Given the description of an element on the screen output the (x, y) to click on. 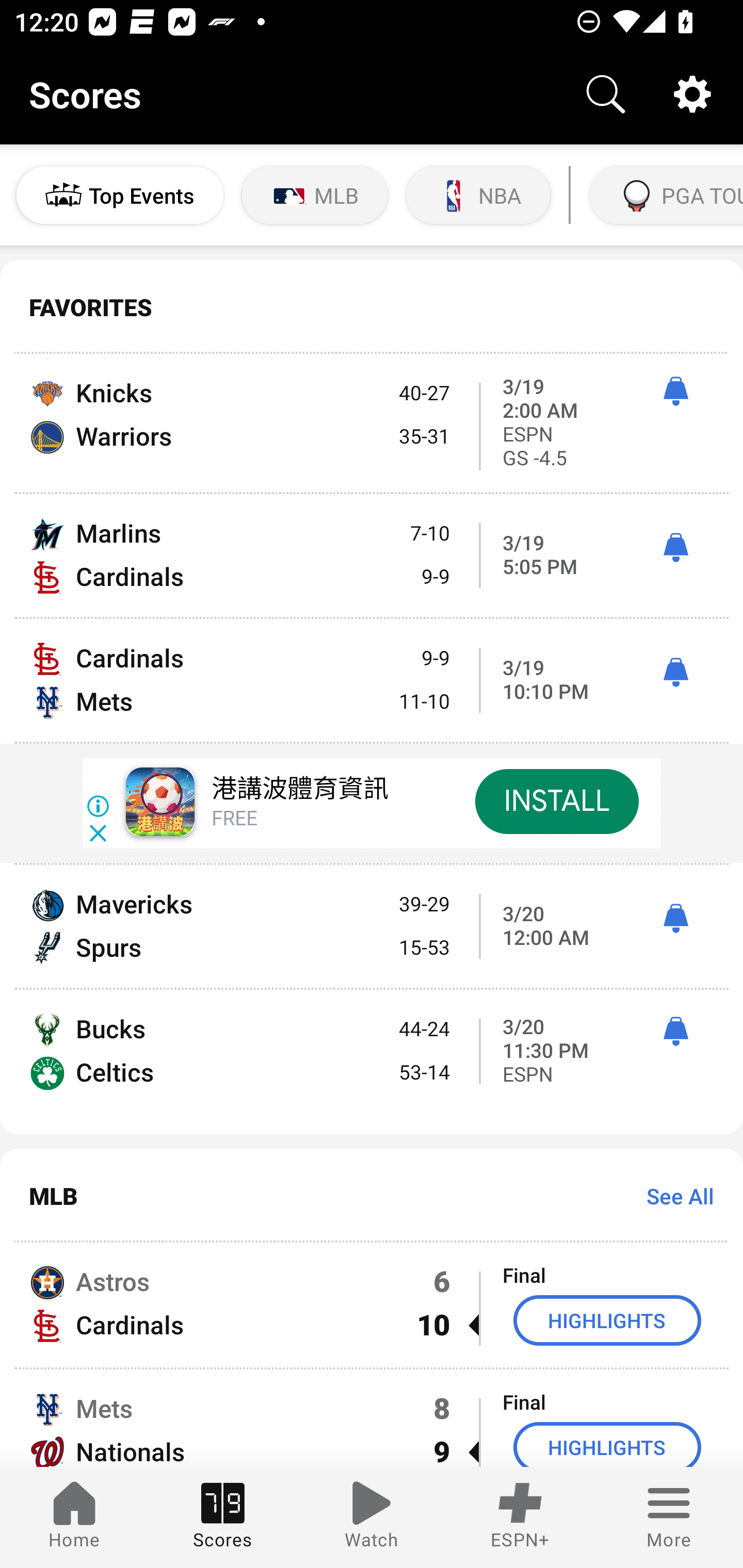
Search (605, 93)
Settings (692, 93)
 Top Events (119, 194)
MLB (314, 194)
NBA (477, 194)
PGA TOUR (664, 194)
FAVORITES (371, 307)
ì (675, 390)
Marlins 7-10 Cardinals 9-9 3/19 5:05 PM ì (371, 554)
ì (675, 547)
Cardinals 9-9 Mets 11-10 3/19 10:10 PM ì (371, 680)
ì (675, 672)
INSTALL (556, 801)
港講波體育資訊 (299, 789)
FREE (234, 818)
Mavericks 39-29 Spurs 15-53 3/20 12:00 AM ì (371, 926)
ì (675, 918)
Bucks 44-24 Celtics 53-14 3/20 11:30 PM ì ESPN (371, 1061)
ì (675, 1031)
MLB See All (371, 1195)
See All (673, 1195)
Astros 6 Final Cardinals 10  HIGHLIGHTS (371, 1304)
HIGHLIGHTS (607, 1320)
Mets 8 Final Nationals 9  HIGHLIGHTS (371, 1417)
HIGHLIGHTS (607, 1444)
Home (74, 1517)
Watch (371, 1517)
ESPN+ (519, 1517)
More (668, 1517)
